Given the description of an element on the screen output the (x, y) to click on. 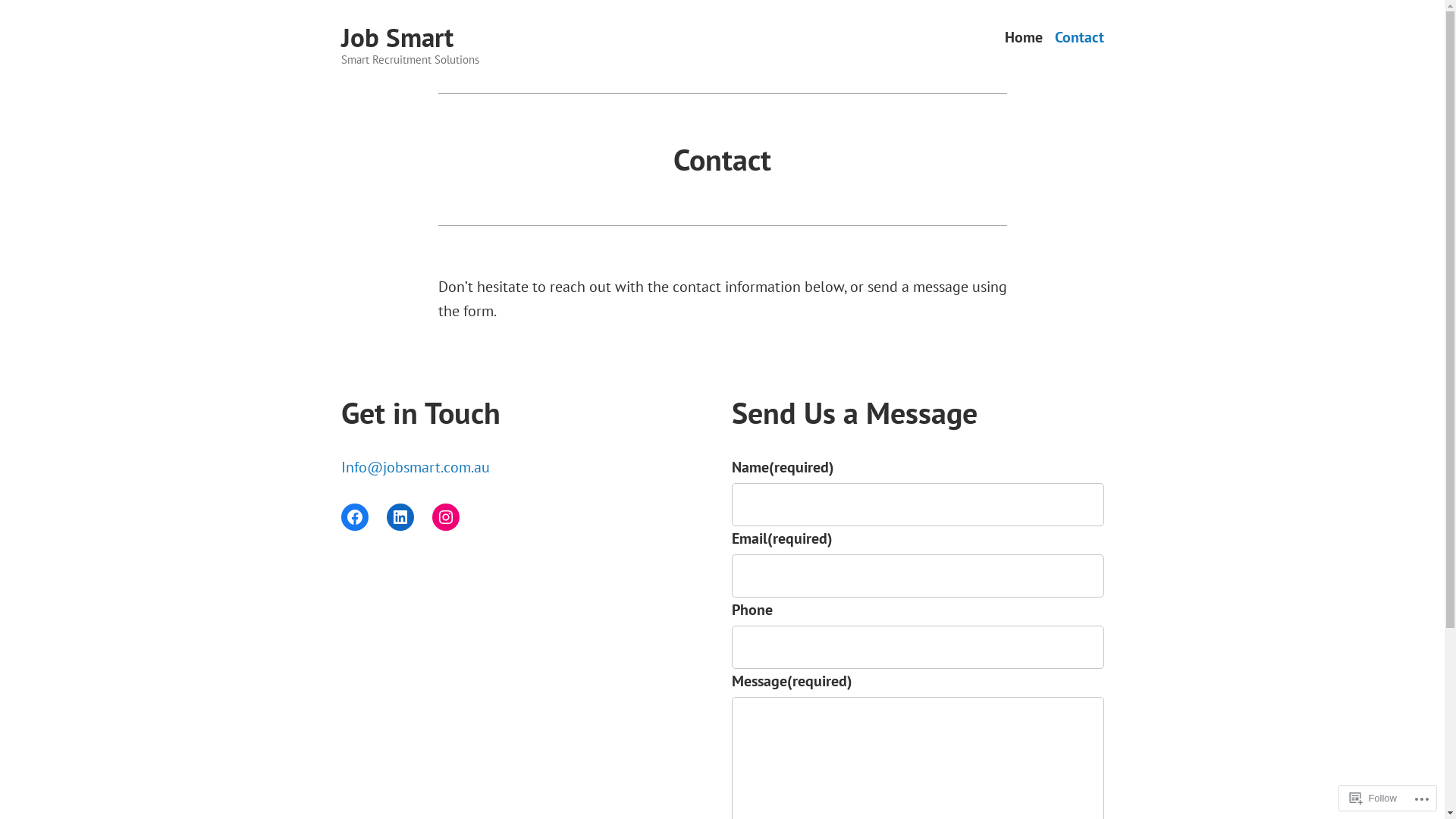
Job Smart Element type: text (397, 36)
Please enter a valid URL - https://www.example.com Element type: hover (917, 646)
Info@jobsmart.com.au Element type: text (415, 466)
Home Element type: text (1022, 37)
Contact Element type: text (1078, 37)
Follow Element type: text (1372, 797)
